Given the description of an element on the screen output the (x, y) to click on. 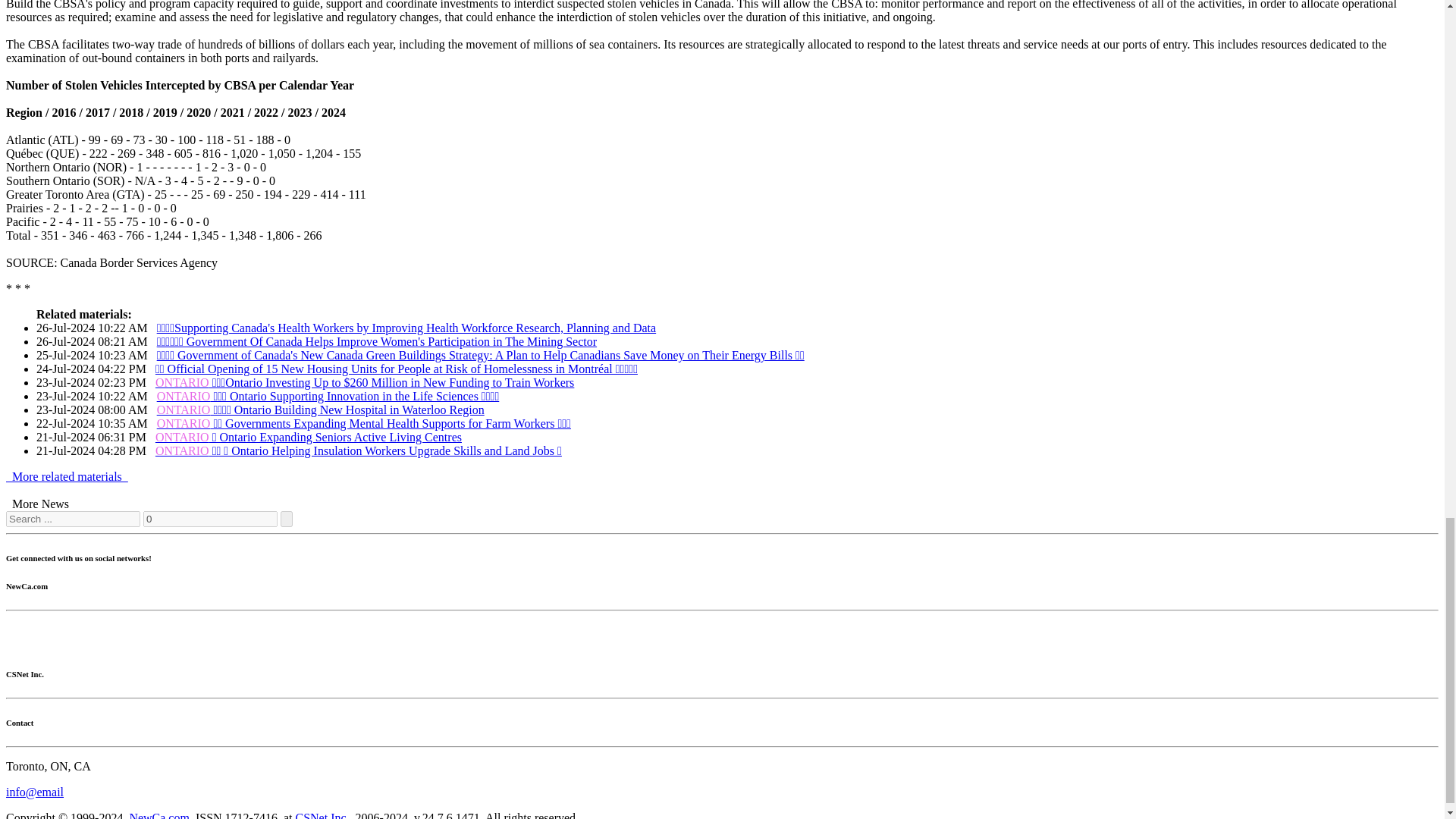
 More Related Materials  (66, 476)
0 (210, 519)
 More News  (40, 503)
